Given the description of an element on the screen output the (x, y) to click on. 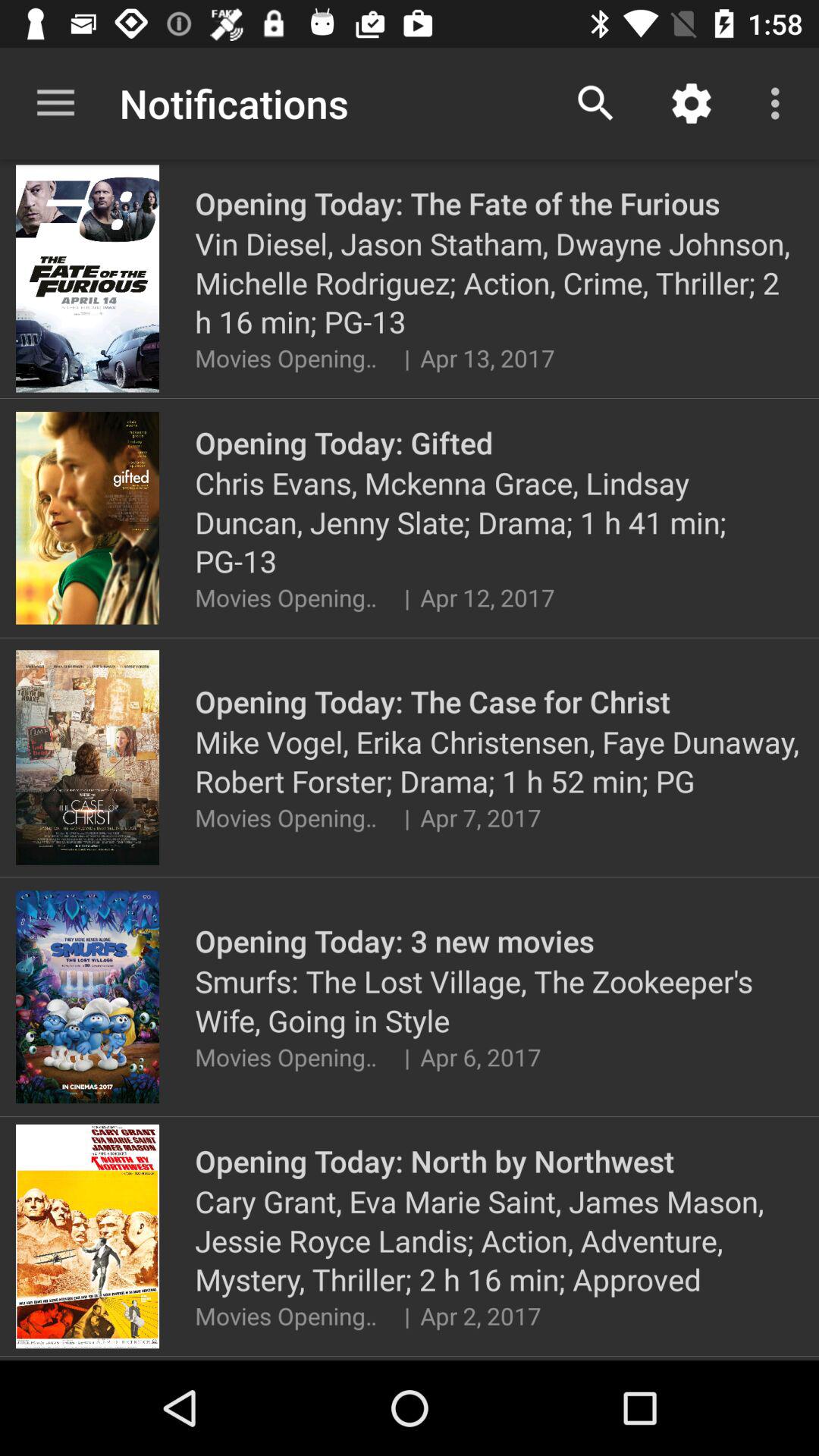
select icon next to movies opening today item (407, 357)
